Given the description of an element on the screen output the (x, y) to click on. 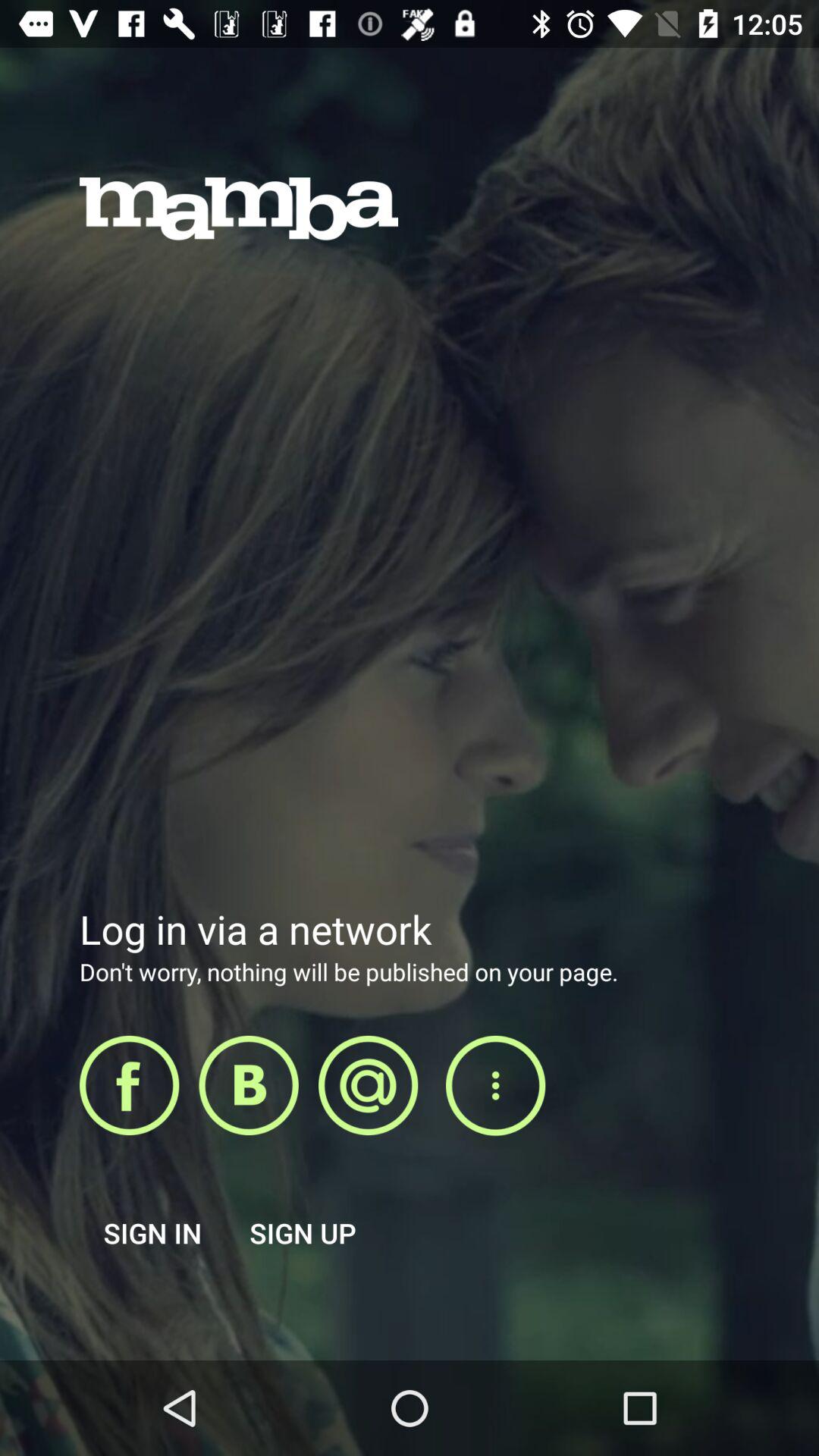
send message (368, 1085)
